Given the description of an element on the screen output the (x, y) to click on. 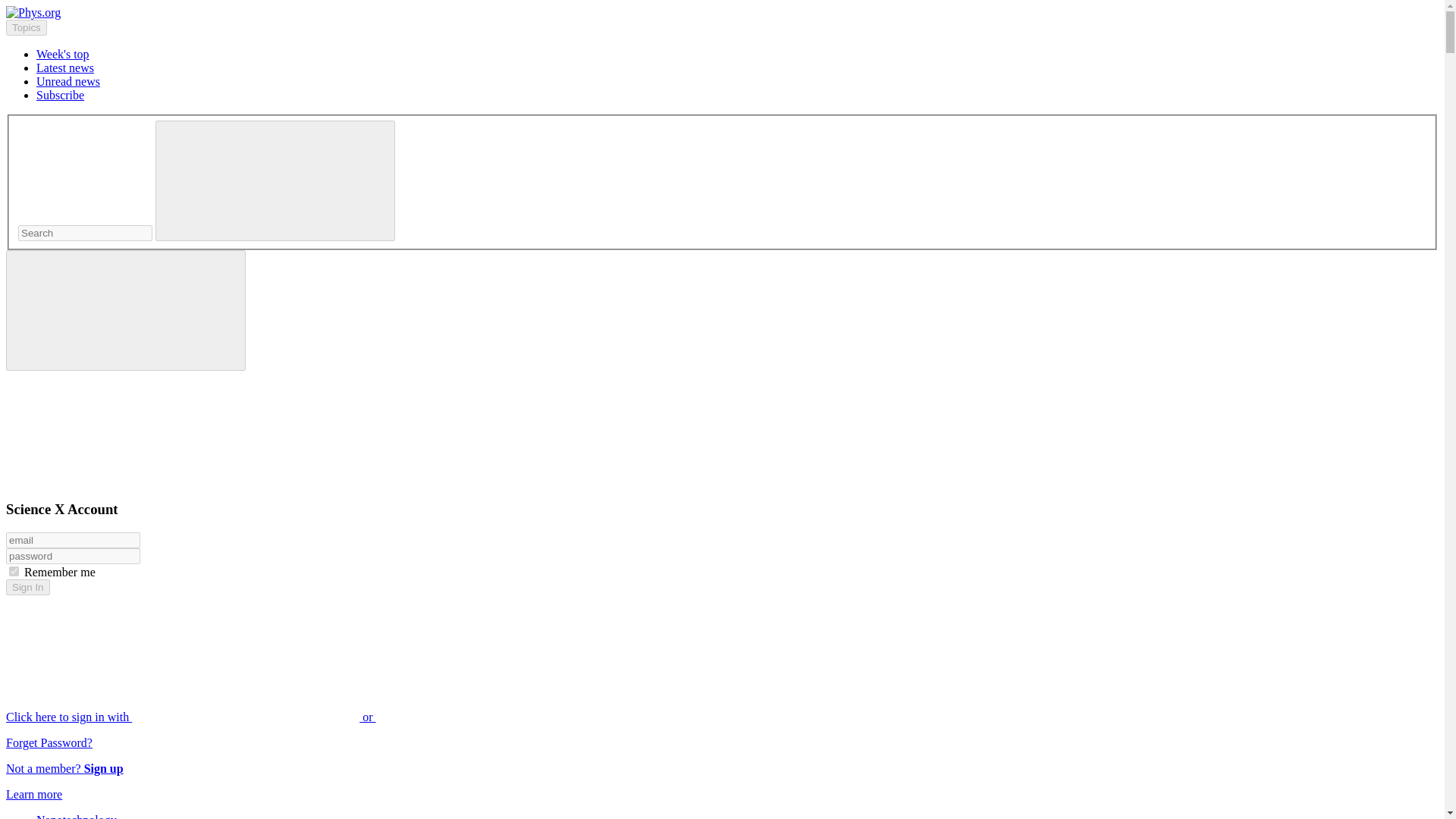
Sign In (27, 587)
Subscribe (60, 94)
Unread news (68, 81)
Click here to sign in with or (304, 716)
Week's top (62, 53)
Learn more (33, 793)
Forget Password? (49, 742)
Not a member? Sign up (64, 768)
on (13, 571)
Topics (25, 27)
